Given the description of an element on the screen output the (x, y) to click on. 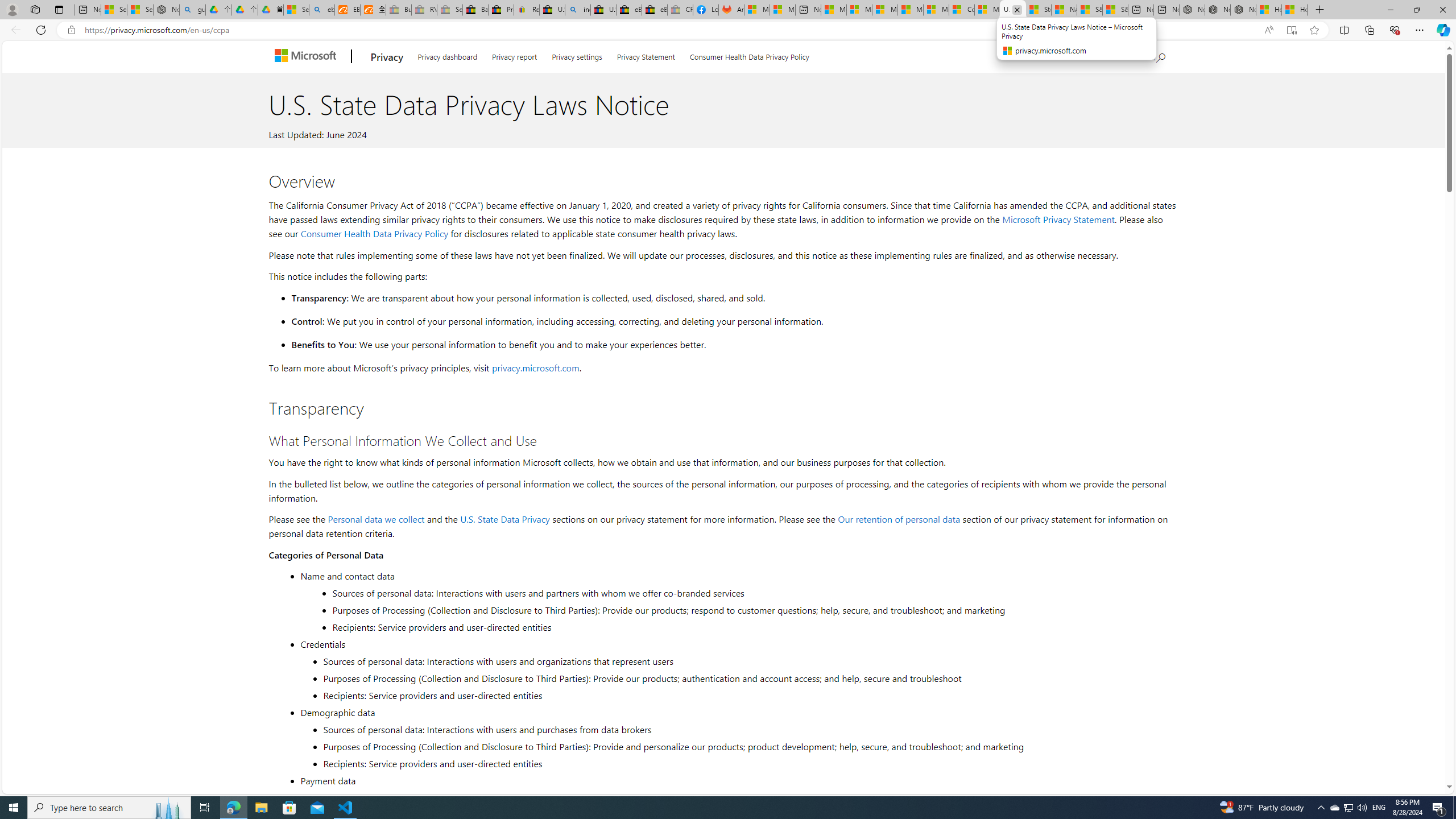
Log into Facebook (705, 9)
Search Microsoft.com (1149, 54)
Enter Immersive Reader (F9) (1291, 29)
